Given the description of an element on the screen output the (x, y) to click on. 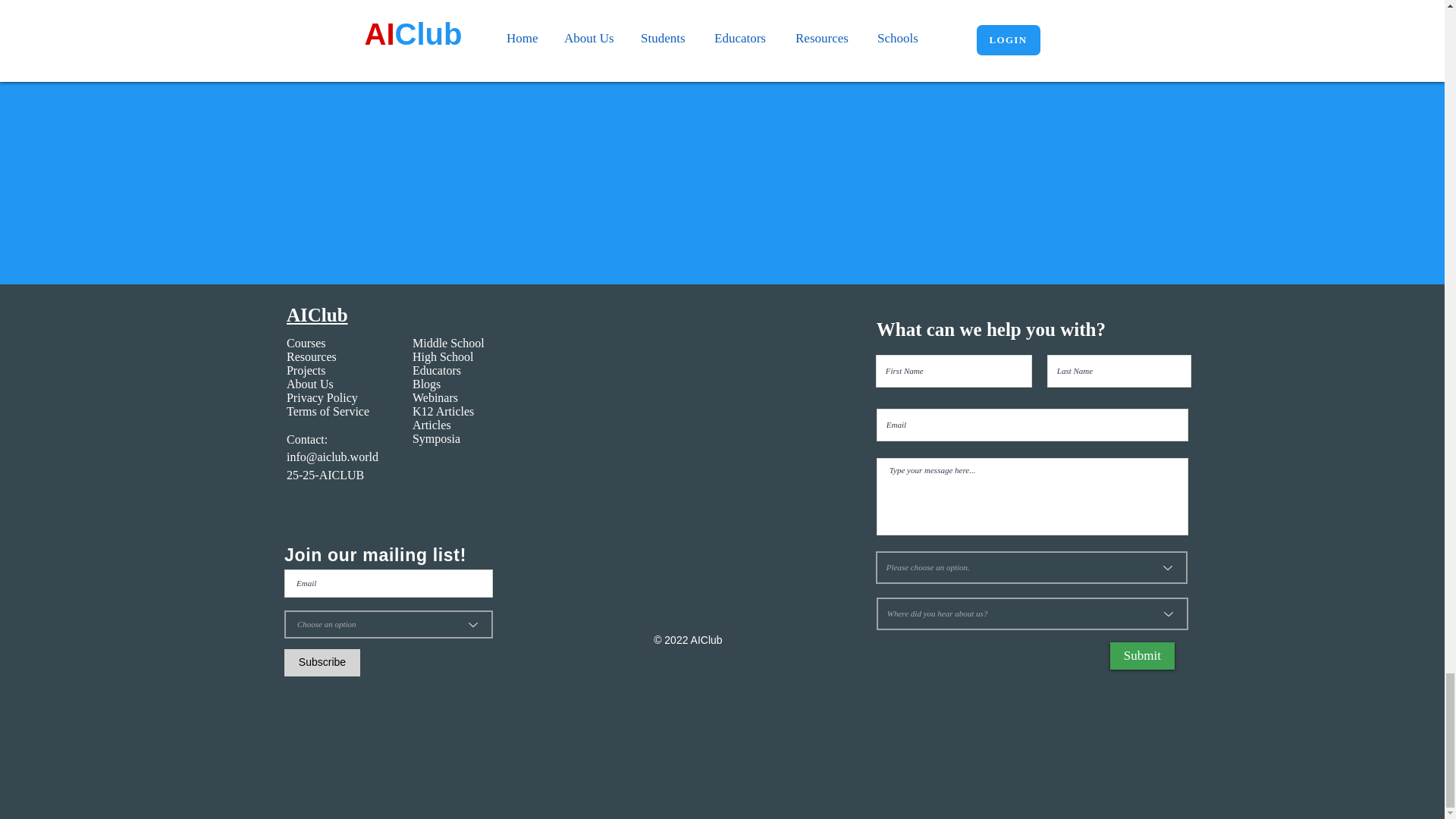
Middle School (448, 342)
Privacy Policy (322, 397)
Resources (311, 356)
High School (442, 356)
AIClub (316, 314)
Projects (306, 369)
Educators (436, 369)
Terms of Service (327, 410)
Courses (306, 342)
About Us (309, 383)
